Given the description of an element on the screen output the (x, y) to click on. 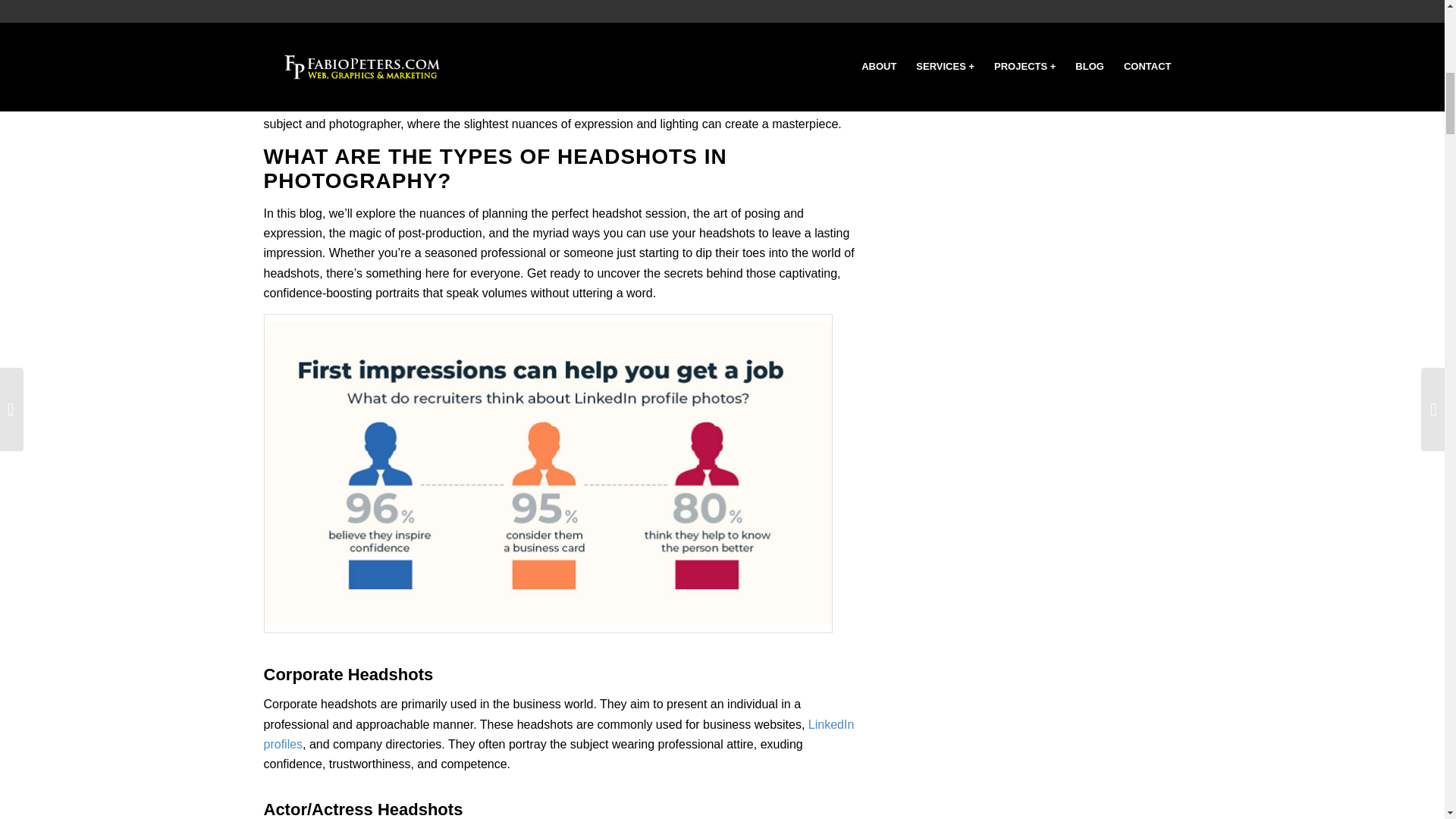
LinkedIn profiles (558, 734)
